Given the description of an element on the screen output the (x, y) to click on. 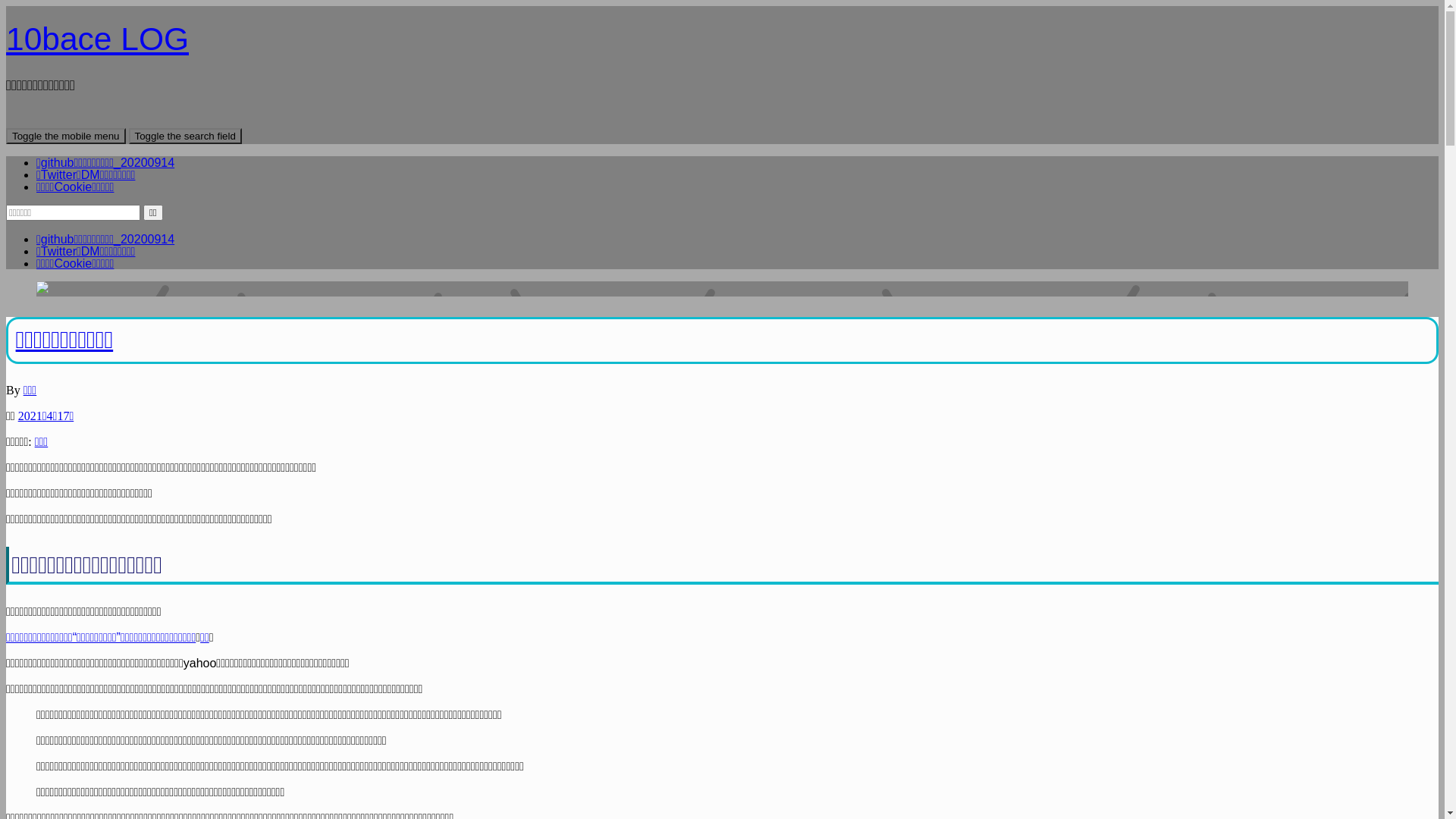
Toggle the mobile menu Element type: text (65, 136)
10bace LOG Element type: text (97, 38)
Toggle the search field Element type: text (184, 136)
